Given the description of an element on the screen output the (x, y) to click on. 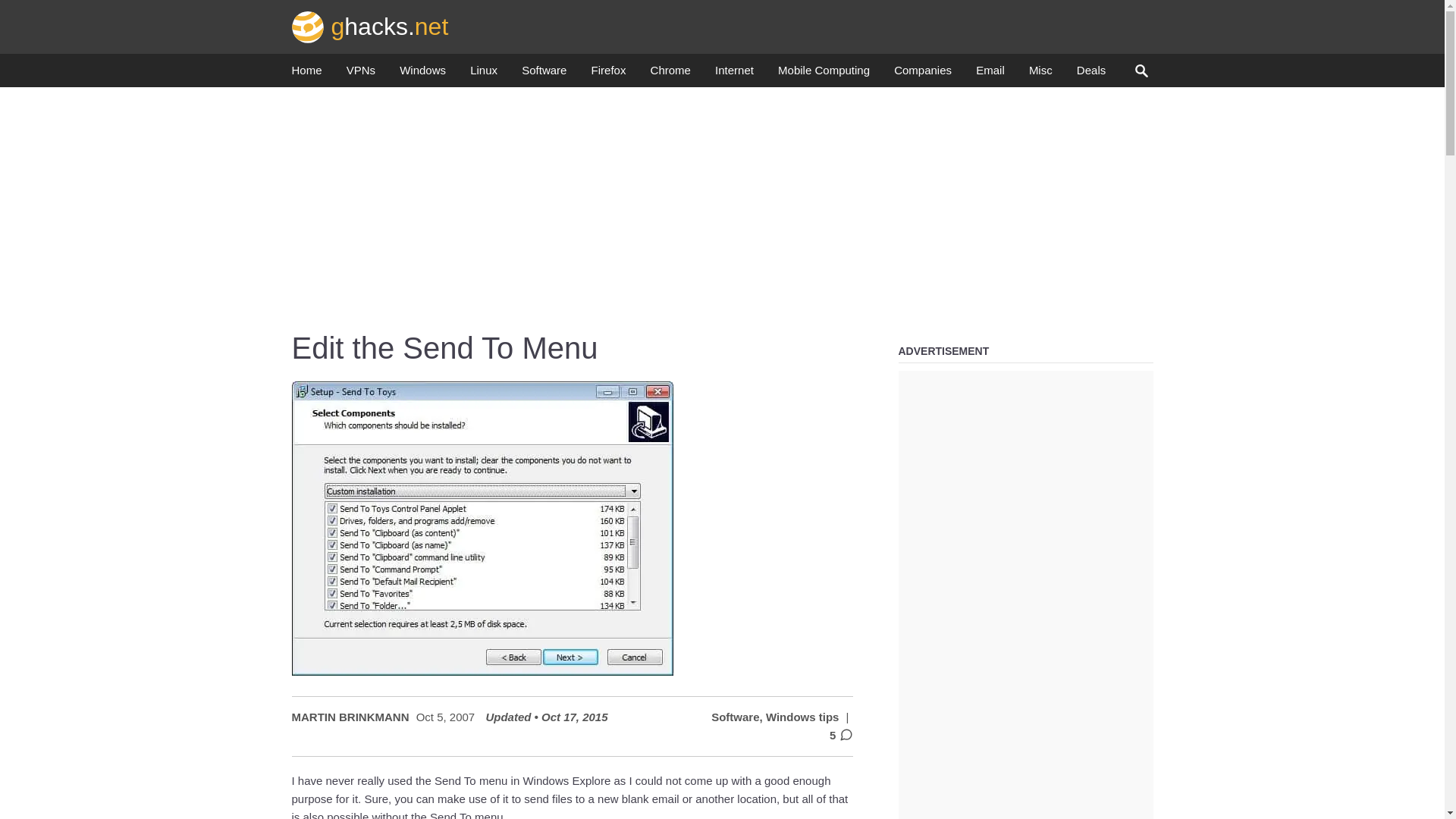
Software (543, 73)
Home (306, 73)
Mobile Computing (823, 73)
Companies (922, 73)
Email (989, 73)
Firefox (608, 73)
Misc (1040, 73)
Internet (734, 73)
VPNs (360, 73)
Linux (483, 73)
Deals (1091, 73)
ghacks.net (369, 26)
Chrome (670, 73)
Windows (421, 73)
